Given the description of an element on the screen output the (x, y) to click on. 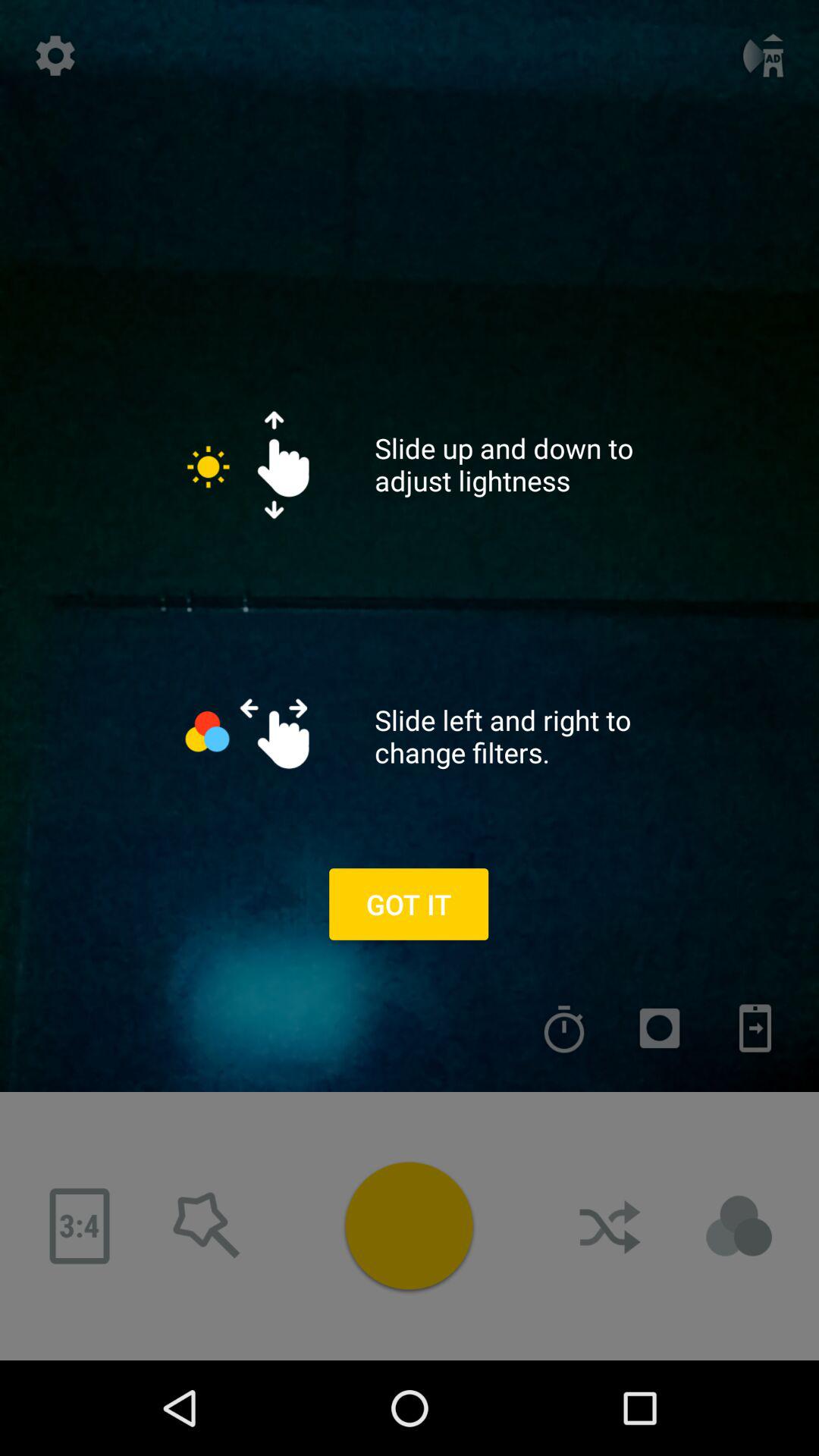
send this to your phone (755, 1028)
